Given the description of an element on the screen output the (x, y) to click on. 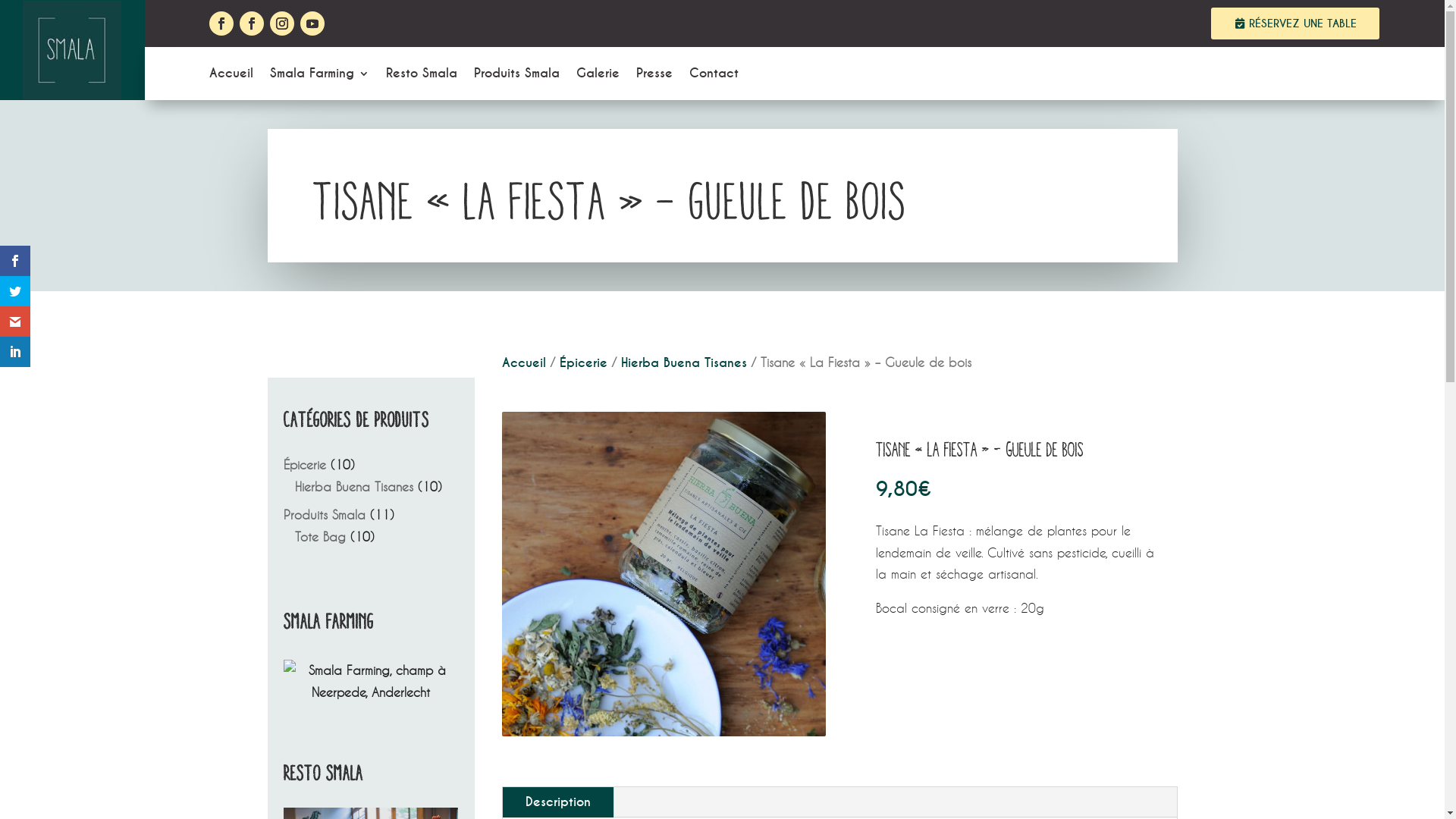
Galerie Element type: text (597, 76)
Resto Smala Element type: text (421, 76)
Description Element type: text (557, 802)
Suivez sur Facebook Element type: hover (221, 23)
Contact Element type: text (713, 76)
Accueil Element type: text (524, 362)
Presse Element type: text (654, 76)
Smala Farming Element type: text (319, 76)
Hierba Buena Tisanes Element type: text (353, 486)
Accueil Element type: text (231, 76)
Produits Smala Element type: text (516, 76)
Suivez sur Instagram Element type: hover (281, 23)
Suivez sur Facebook Element type: hover (251, 23)
Suivez sur Youtube Element type: hover (312, 23)
tisane-la-fiesta Element type: hover (664, 573)
Produits Smala Element type: text (324, 514)
Logo_Smala Element type: hover (71, 49)
Tote Bag Element type: text (319, 536)
Hierba Buena Tisanes Element type: text (683, 362)
